Given the description of an element on the screen output the (x, y) to click on. 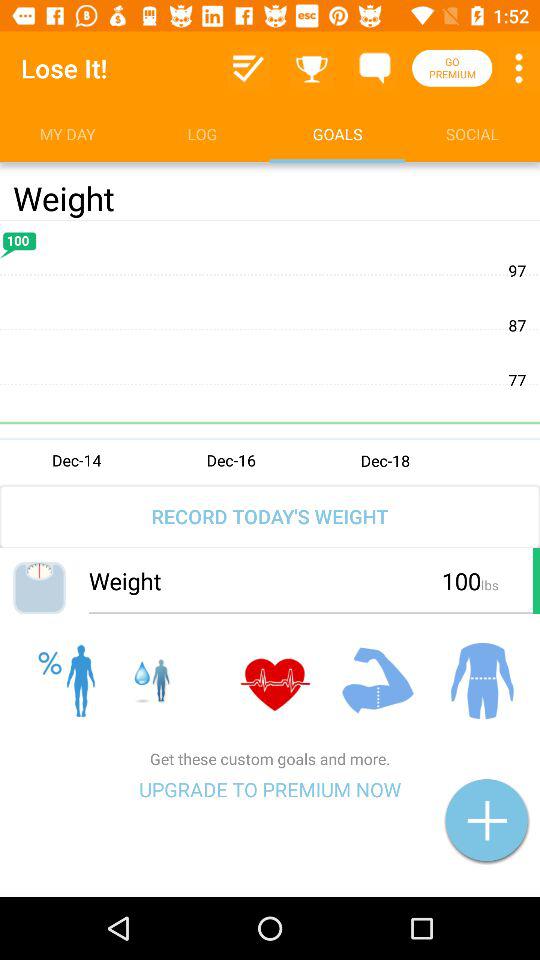
open the item above goals (311, 67)
